Given the description of an element on the screen output the (x, y) to click on. 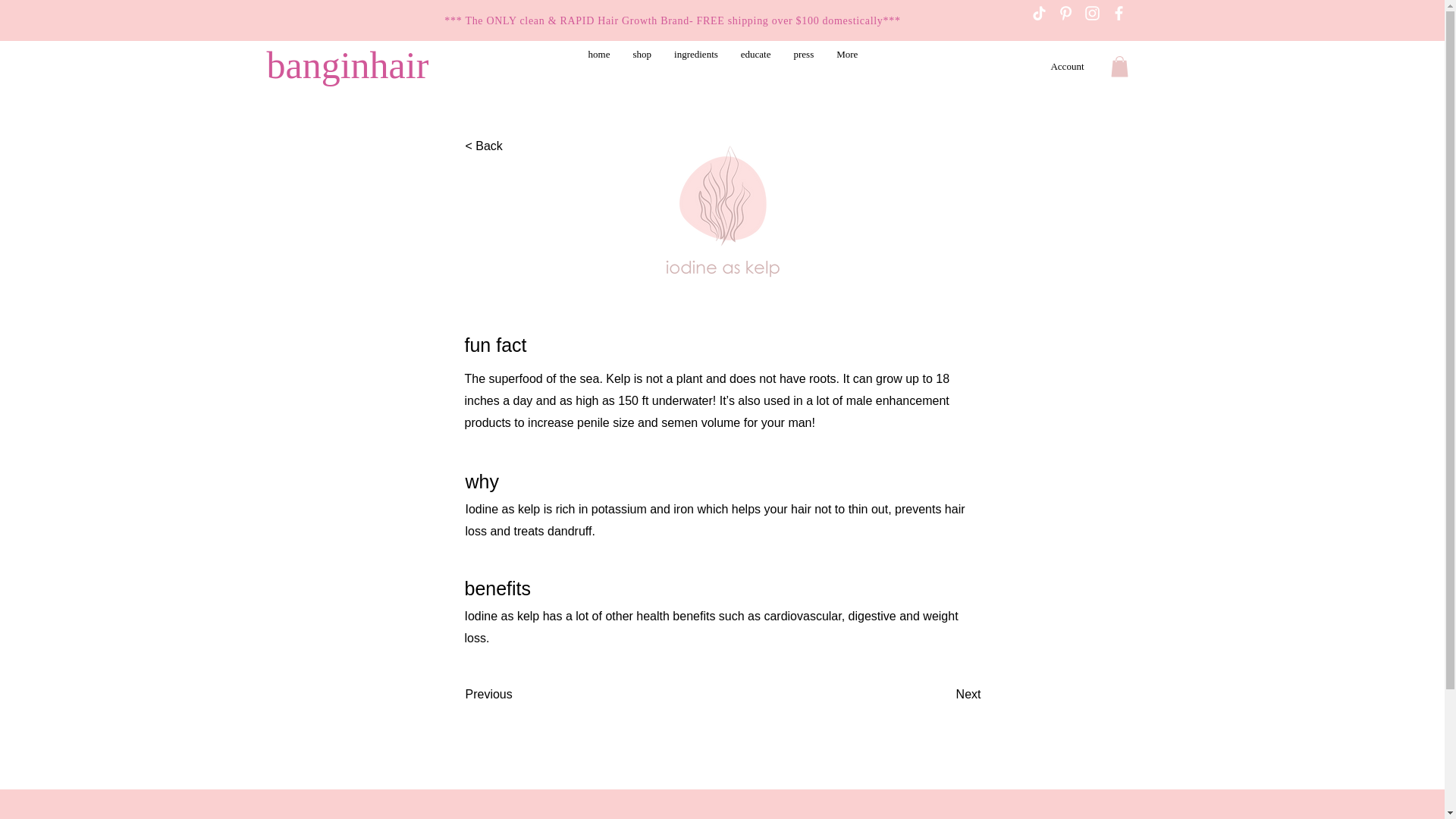
Previous (515, 694)
iodine as kelp (721, 216)
ingredients (695, 66)
educate (756, 66)
Next (943, 694)
press (804, 66)
Account (1066, 66)
home (598, 66)
shop (641, 66)
